Given the description of an element on the screen output the (x, y) to click on. 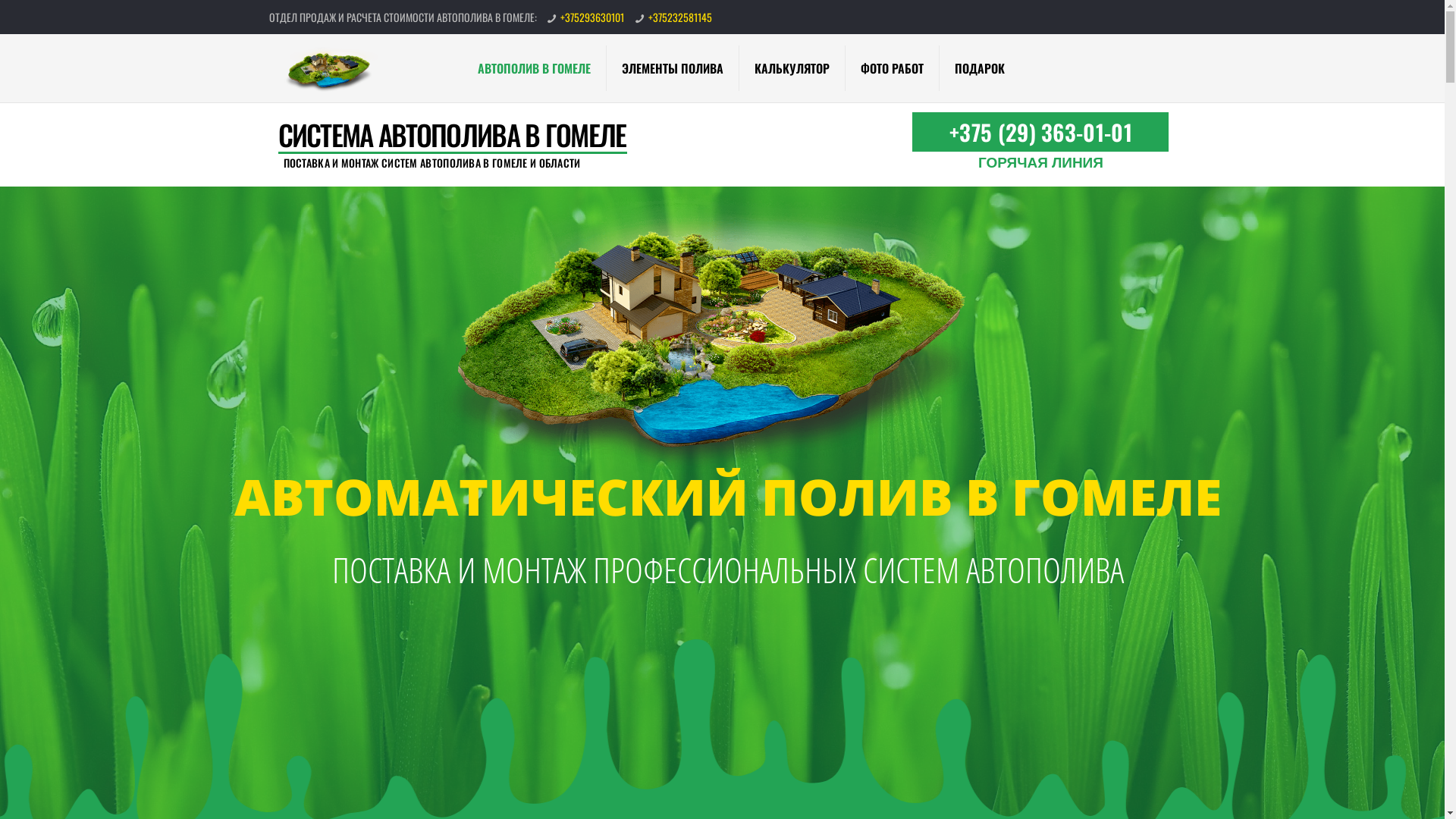
+375293630101 Element type: text (592, 17)
+375232581145 Element type: text (680, 17)
